Given the description of an element on the screen output the (x, y) to click on. 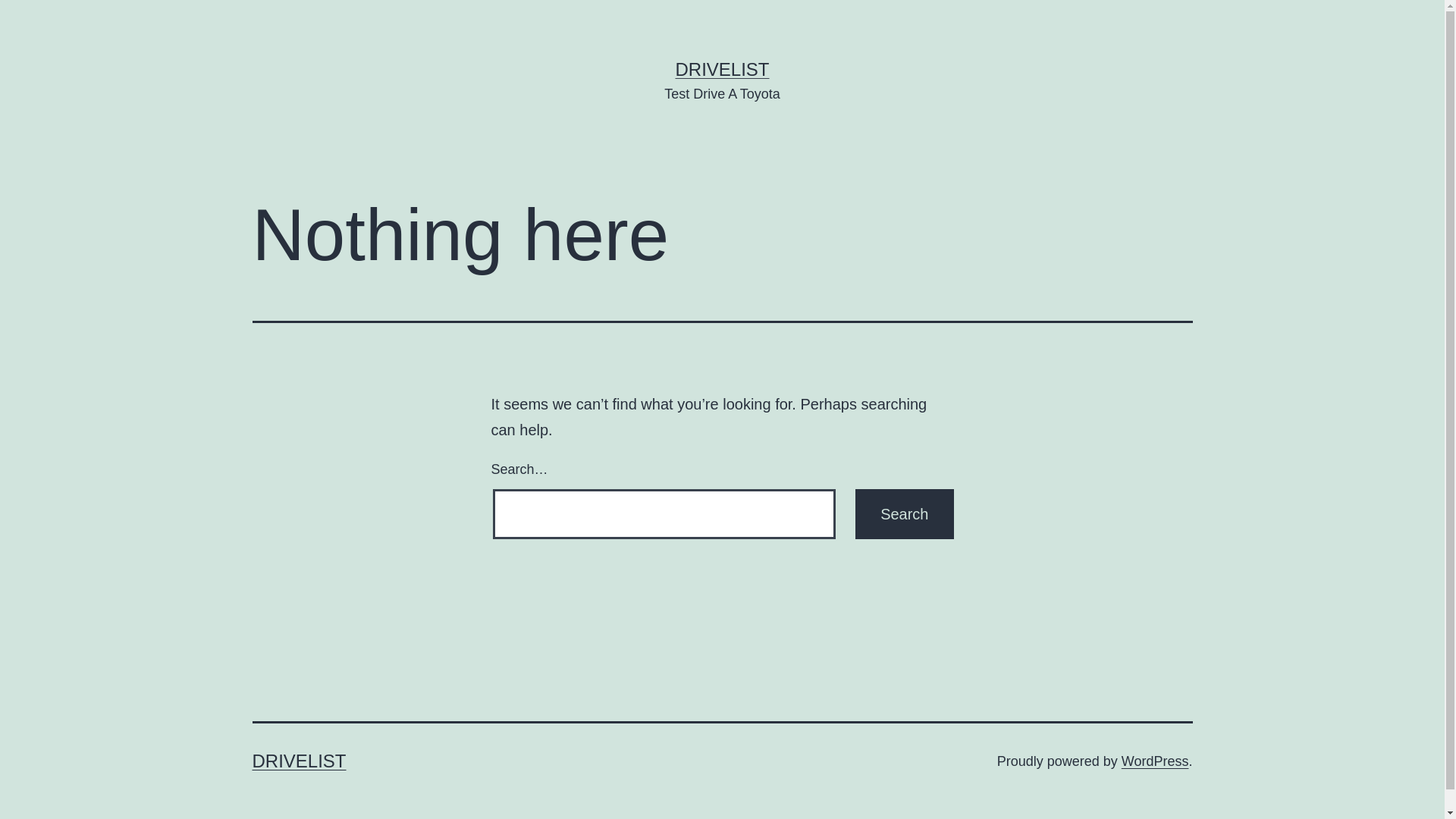
Search Element type: text (904, 514)
DRIVELIST Element type: text (298, 760)
DRIVELIST Element type: text (721, 69)
WordPress Element type: text (1155, 760)
